Given the description of an element on the screen output the (x, y) to click on. 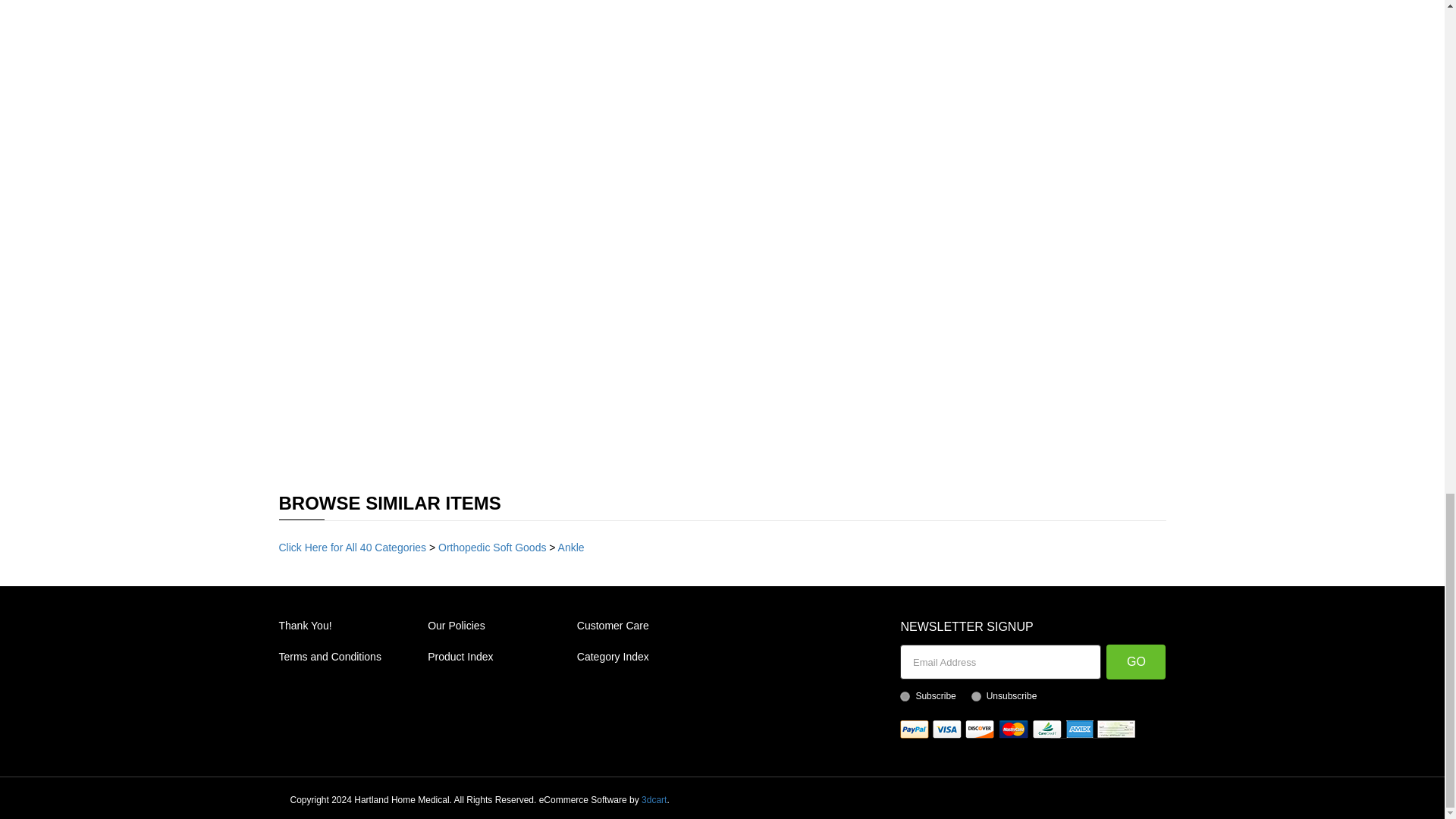
0 (976, 696)
1 (904, 696)
